Given the description of an element on the screen output the (x, y) to click on. 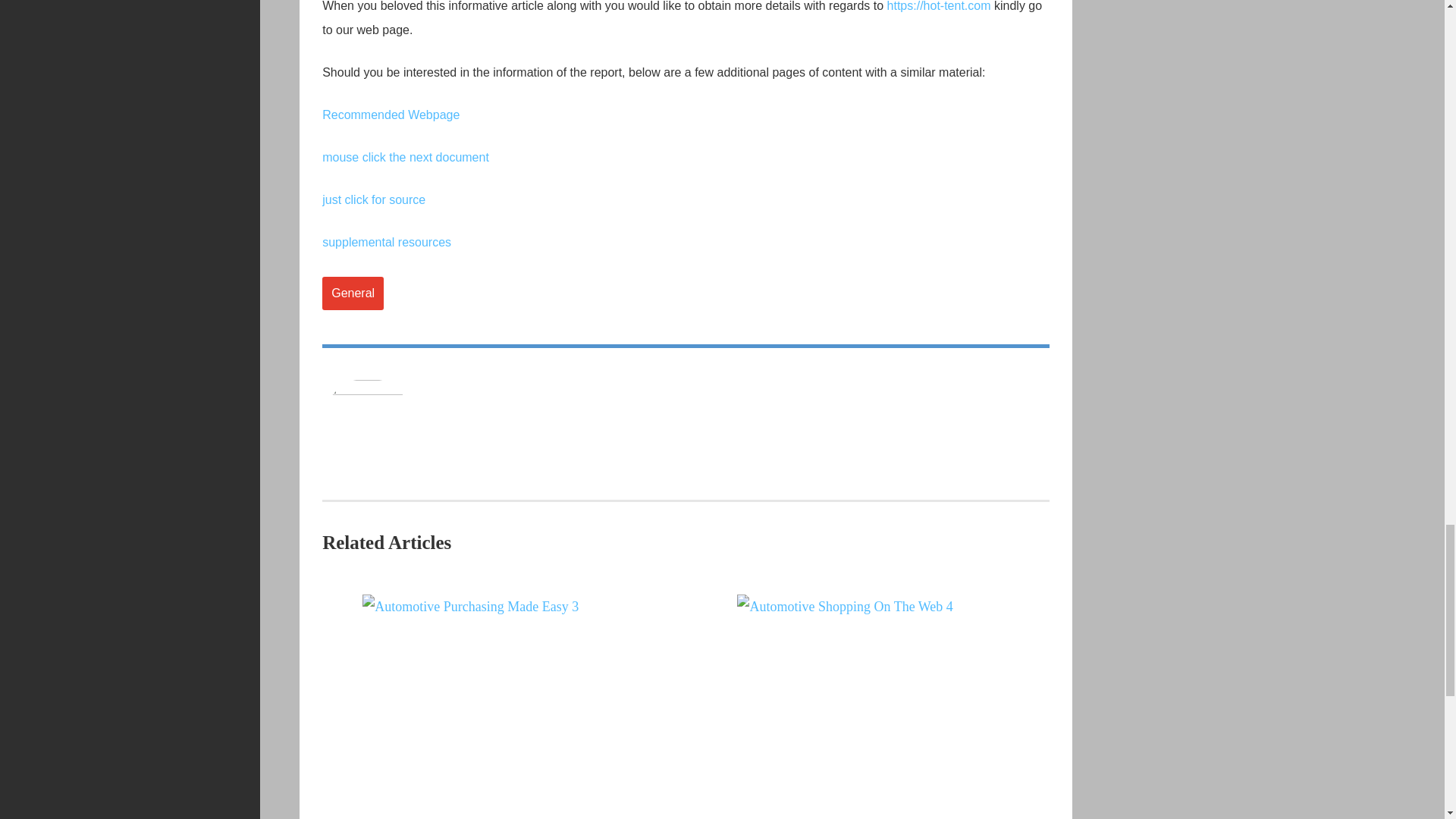
General (352, 293)
supplemental resources (386, 241)
mouse click the next document (405, 156)
Recommended Webpage (390, 114)
just click for source (373, 199)
